Given the description of an element on the screen output the (x, y) to click on. 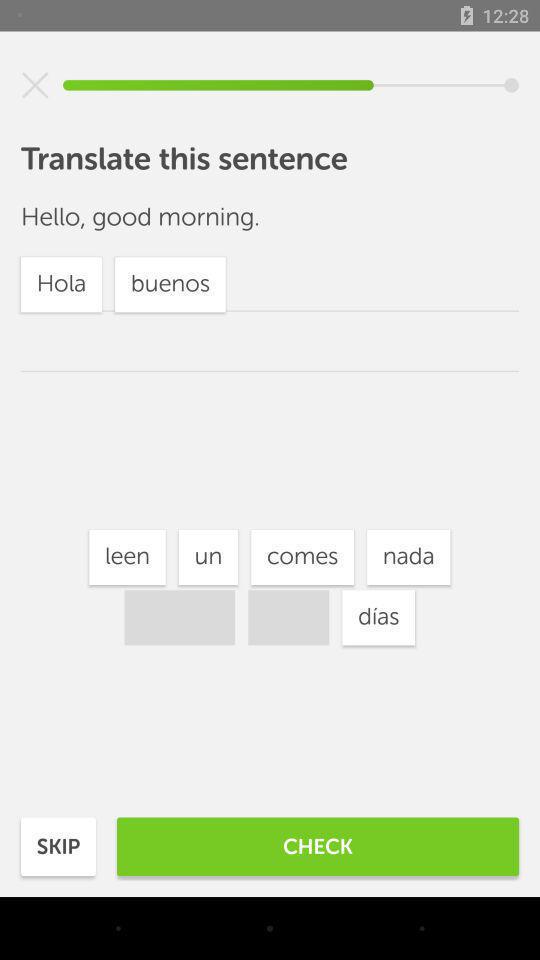
click the item to the left of check (58, 846)
